Given the description of an element on the screen output the (x, y) to click on. 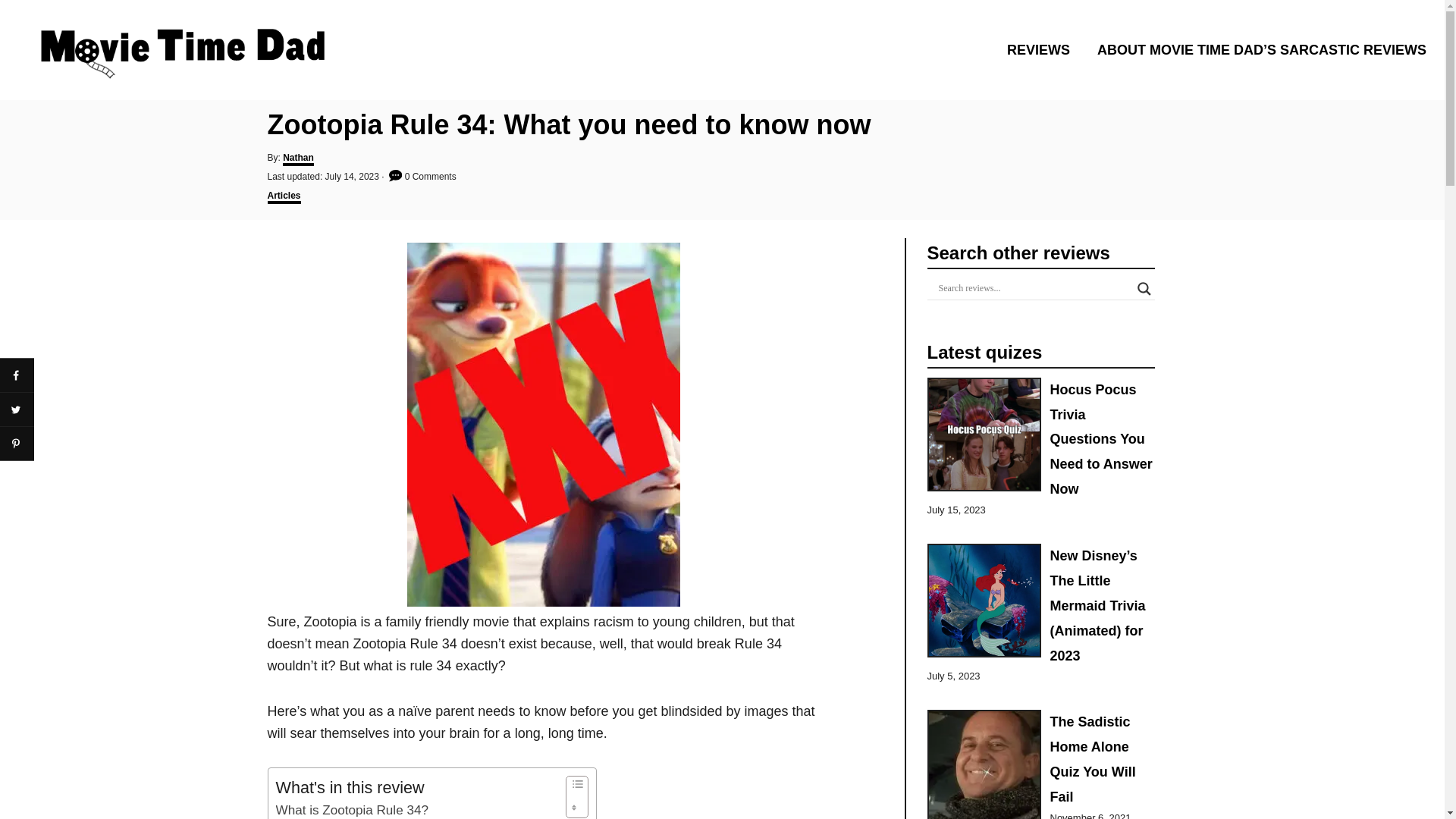
Hocus Pocus Trivia Questions You Need to Answer Now (1100, 439)
The Sadistic Home Alone Quiz You Will Fail (1092, 759)
Share on Facebook (16, 374)
Nathan (298, 159)
What is Zootopia Rule 34? (352, 809)
REVIEWS (1042, 49)
Share on Twitter (16, 409)
Articles (282, 196)
What is Zootopia Rule 34?  (352, 809)
Save to Pinterest (16, 442)
Movie Time Dad (202, 49)
